Given the description of an element on the screen output the (x, y) to click on. 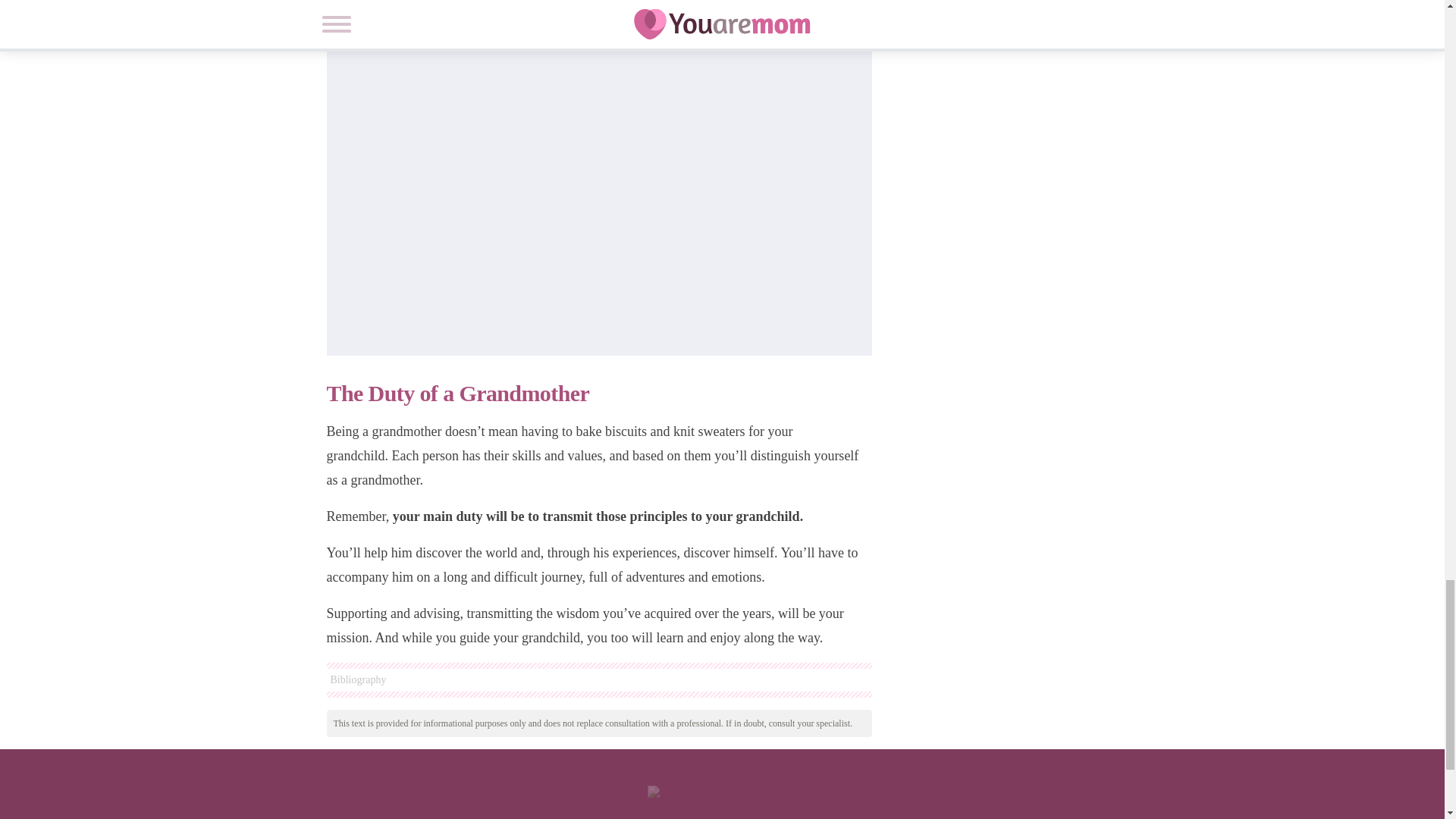
Bibliography (598, 680)
